Given the description of an element on the screen output the (x, y) to click on. 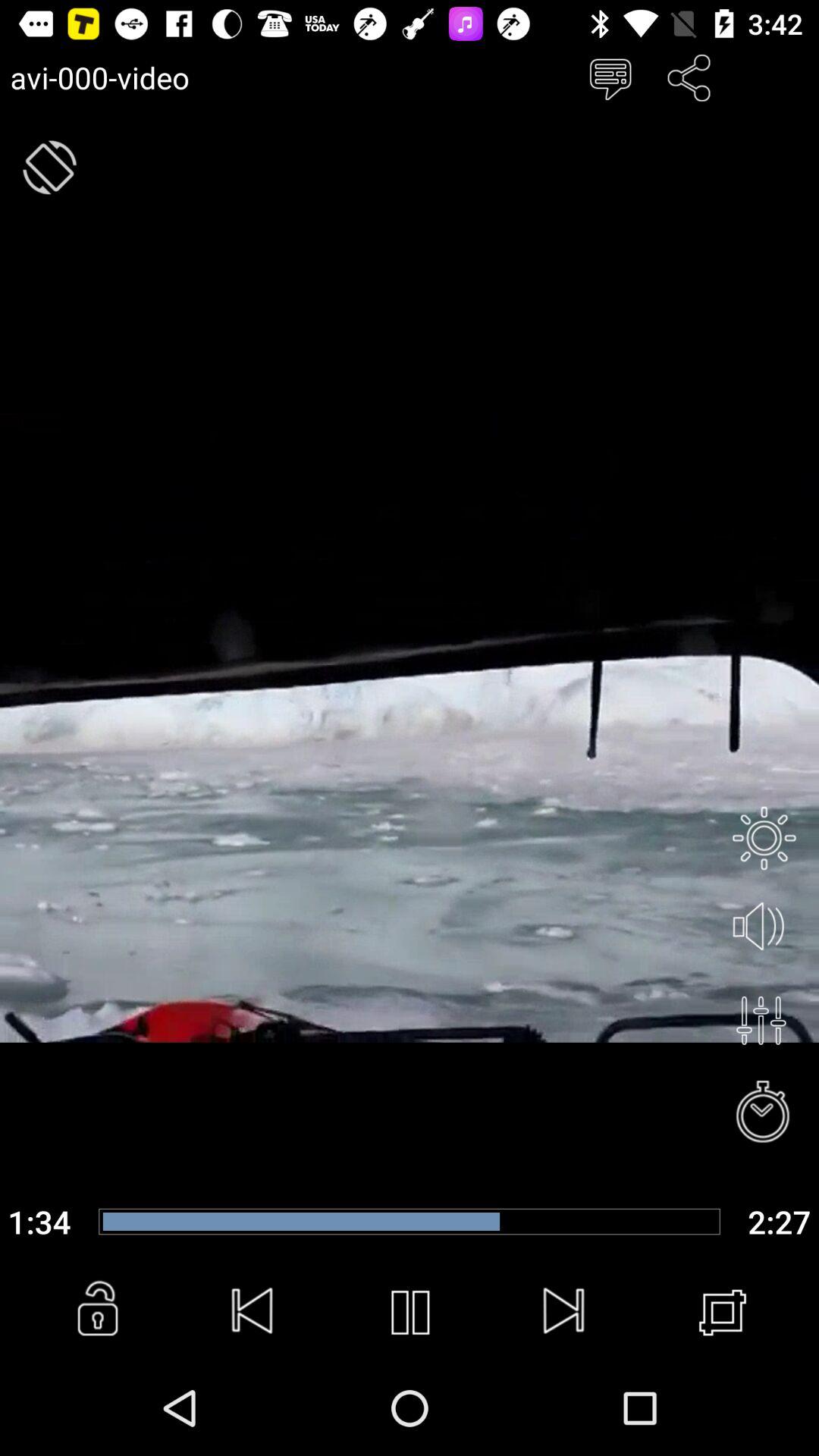
share video (689, 77)
